Given the description of an element on the screen output the (x, y) to click on. 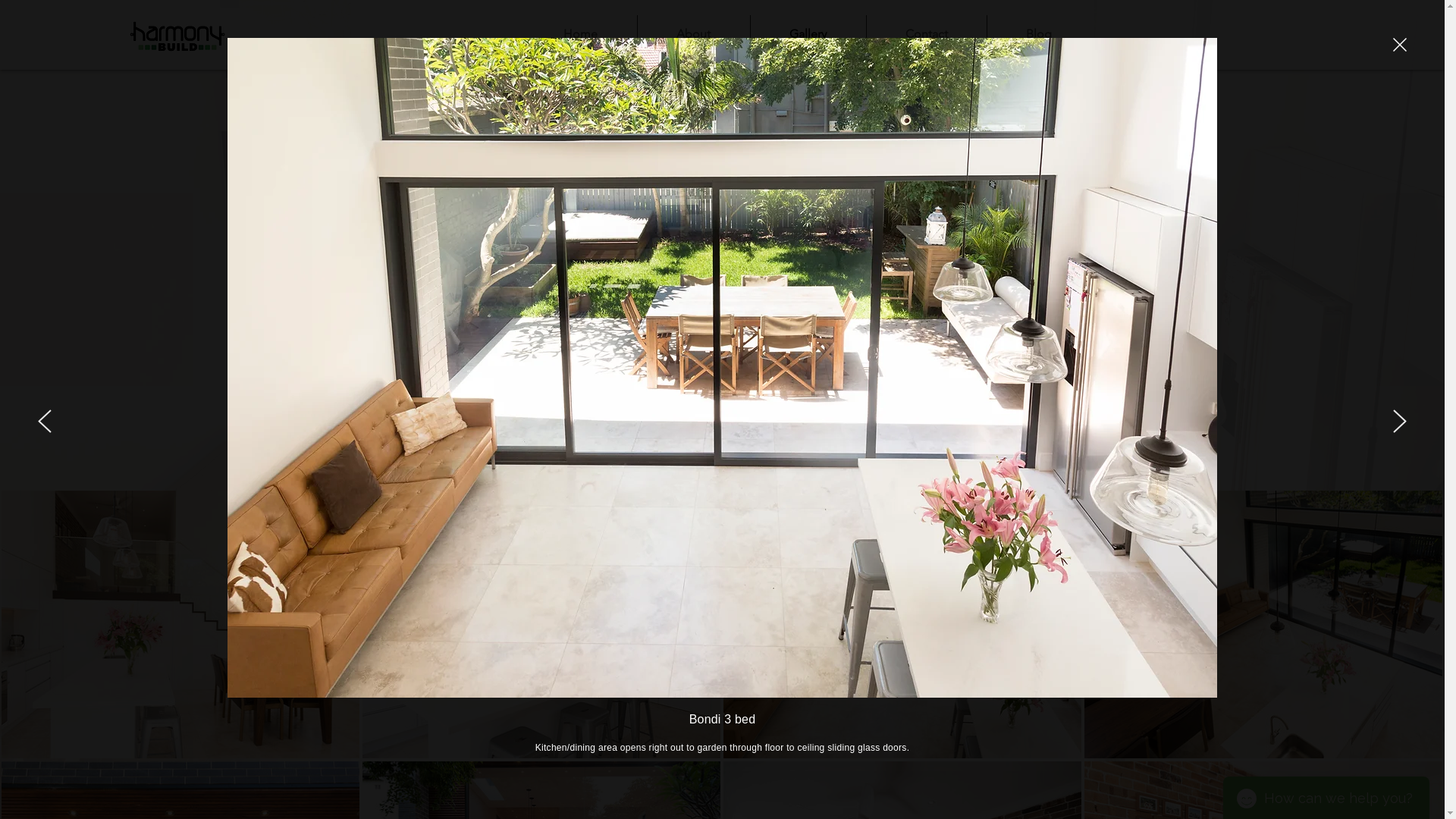
Home Element type: text (580, 34)
About Element type: text (693, 34)
Stefan Lombardo Element type: text (843, 346)
Contact Element type: text (925, 34)
Blog Element type: text (1038, 34)
Gallery Element type: text (808, 34)
